Given the description of an element on the screen output the (x, y) to click on. 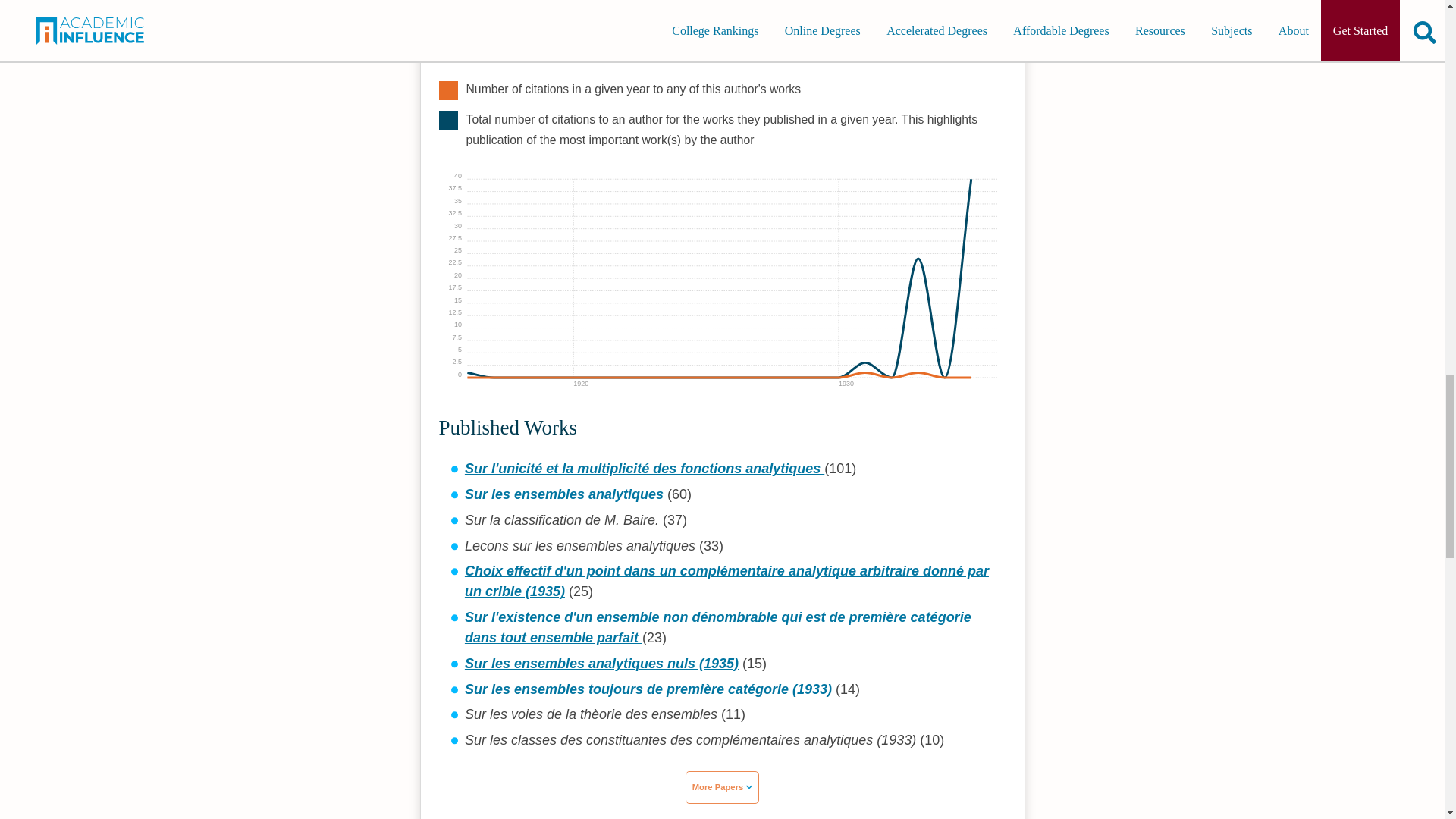
Sur les ensembles analytiques (565, 494)
More Papers (722, 787)
